Given the description of an element on the screen output the (x, y) to click on. 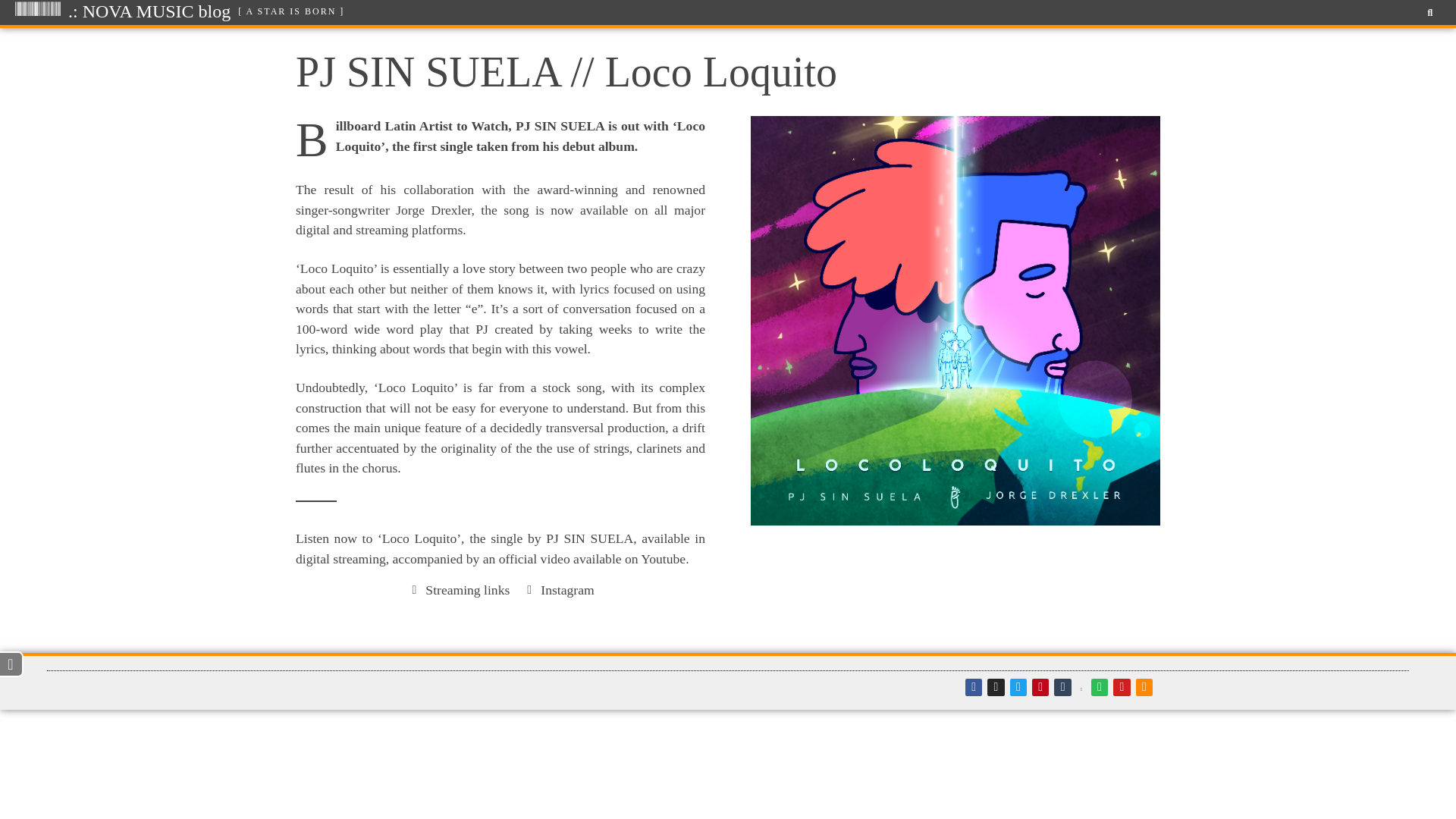
.: NOVA MUSIC blog (149, 11)
Instagram (557, 589)
Streaming links (457, 589)
Search (1424, 12)
